Given the description of an element on the screen output the (x, y) to click on. 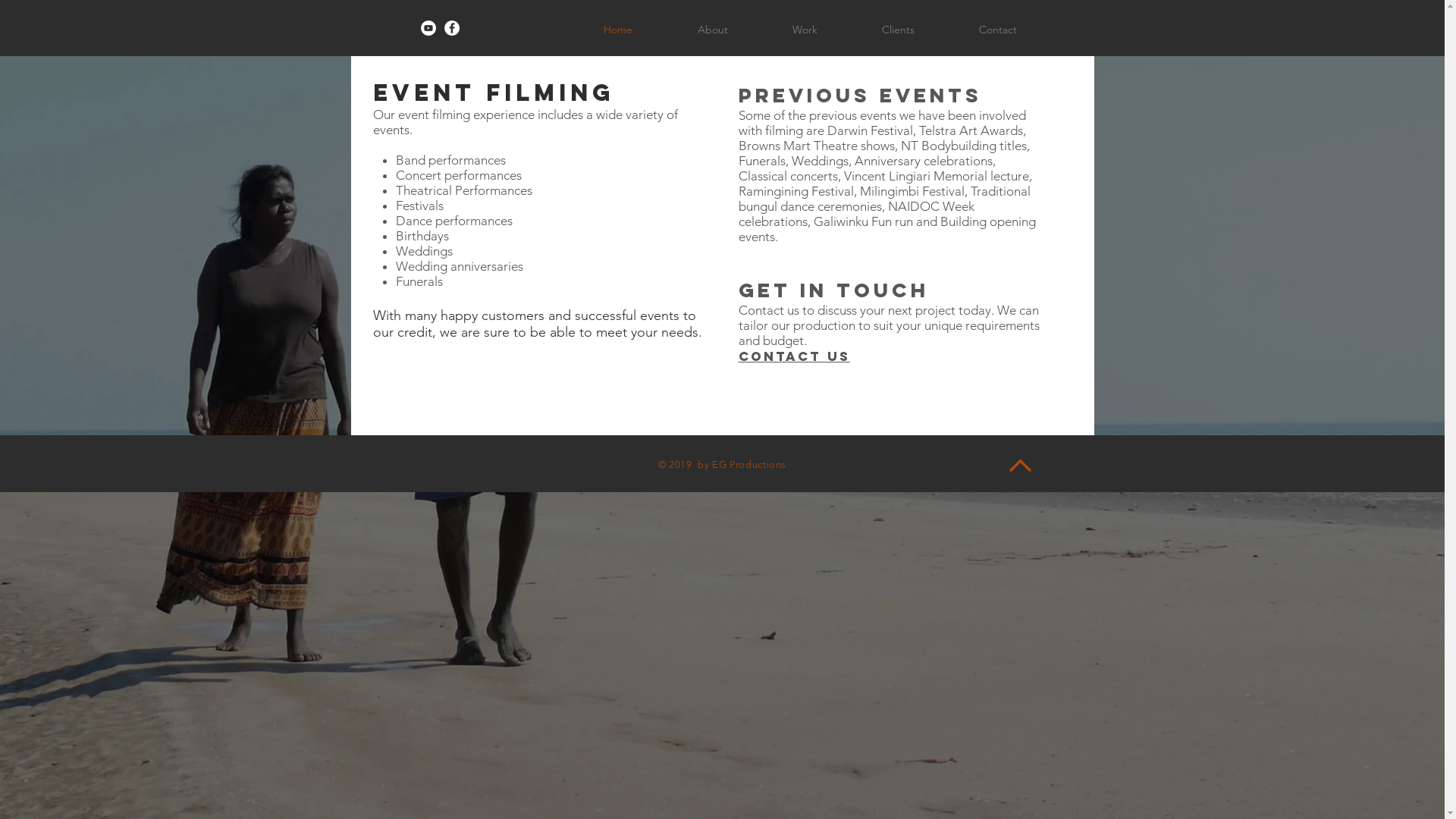
Work Element type: text (804, 29)
Clients Element type: text (897, 29)
Contact Element type: text (997, 29)
Home Element type: text (617, 29)
About Element type: text (711, 29)
Contact us Element type: text (794, 356)
